Given the description of an element on the screen output the (x, y) to click on. 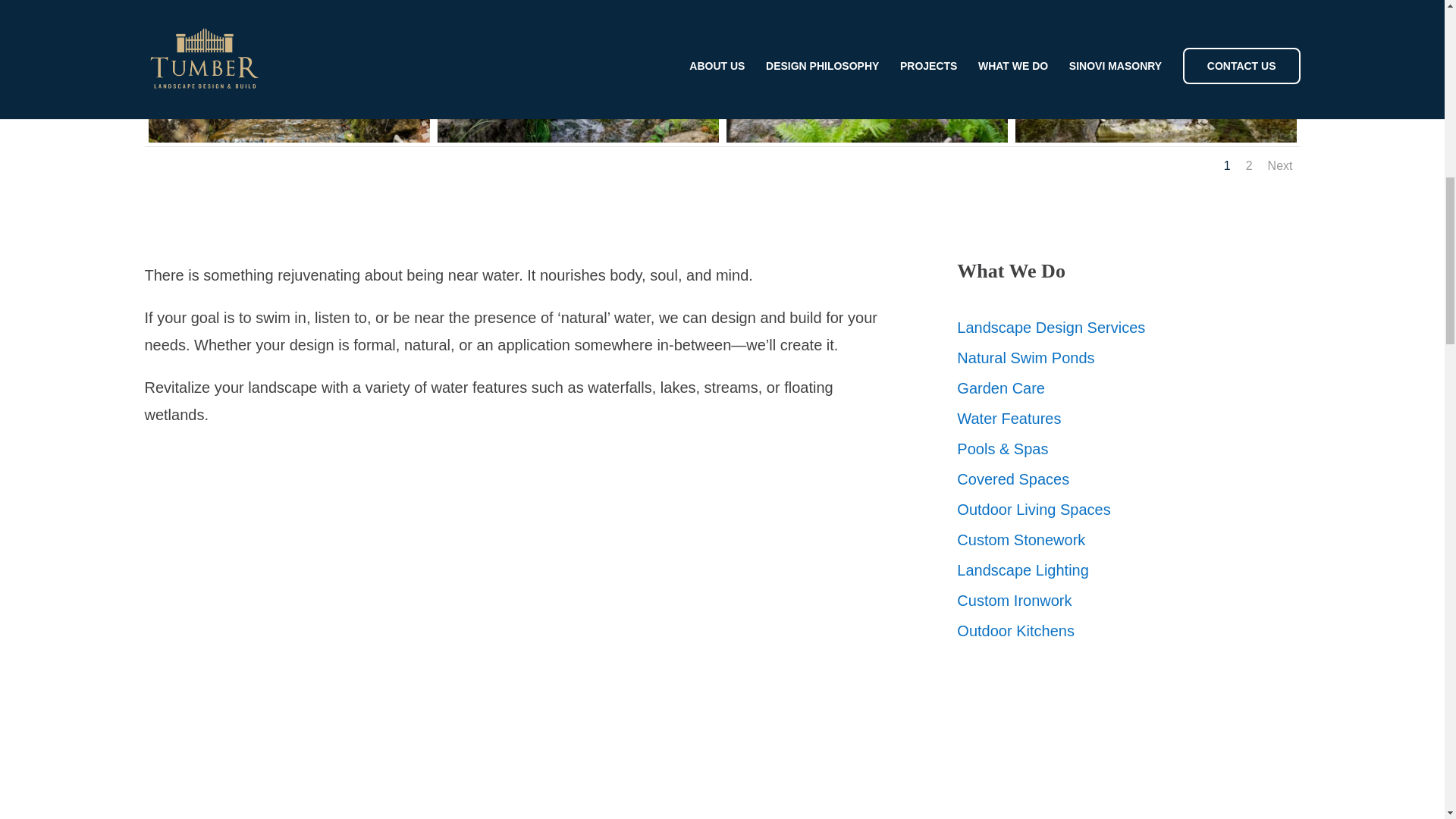
natural-swim-ponds-tumber-associates-3 (1154, 136)
Water Features (1008, 418)
Landscape Lighting (1021, 569)
Custom Stonework (1020, 539)
orangeville-landscape-design-national-landscape-tumber-9 (576, 136)
Outdoor Kitchens (1015, 630)
Natural Swim Ponds (1025, 357)
Outdoor Living Spaces (1032, 509)
Next (1280, 164)
Covered Spaces (1012, 478)
natural-swim-ponds-tumber-associates-4 (866, 136)
Garden Care (1000, 388)
Landscape Design Services (1050, 327)
